Given the description of an element on the screen output the (x, y) to click on. 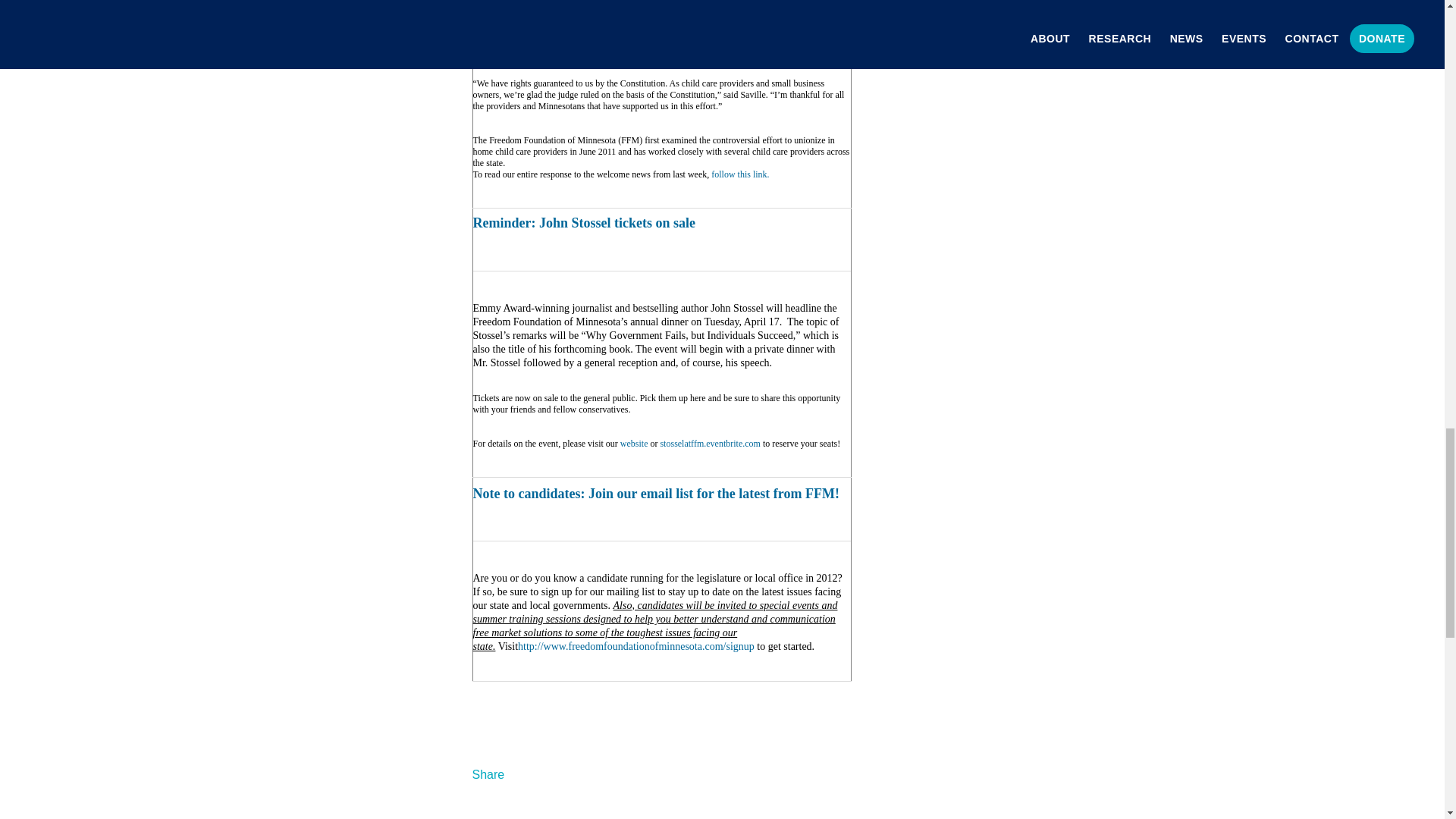
website (633, 443)
stosselatffm.eventbrite.com (709, 443)
Share (487, 774)
follow this link. (739, 173)
